Given the description of an element on the screen output the (x, y) to click on. 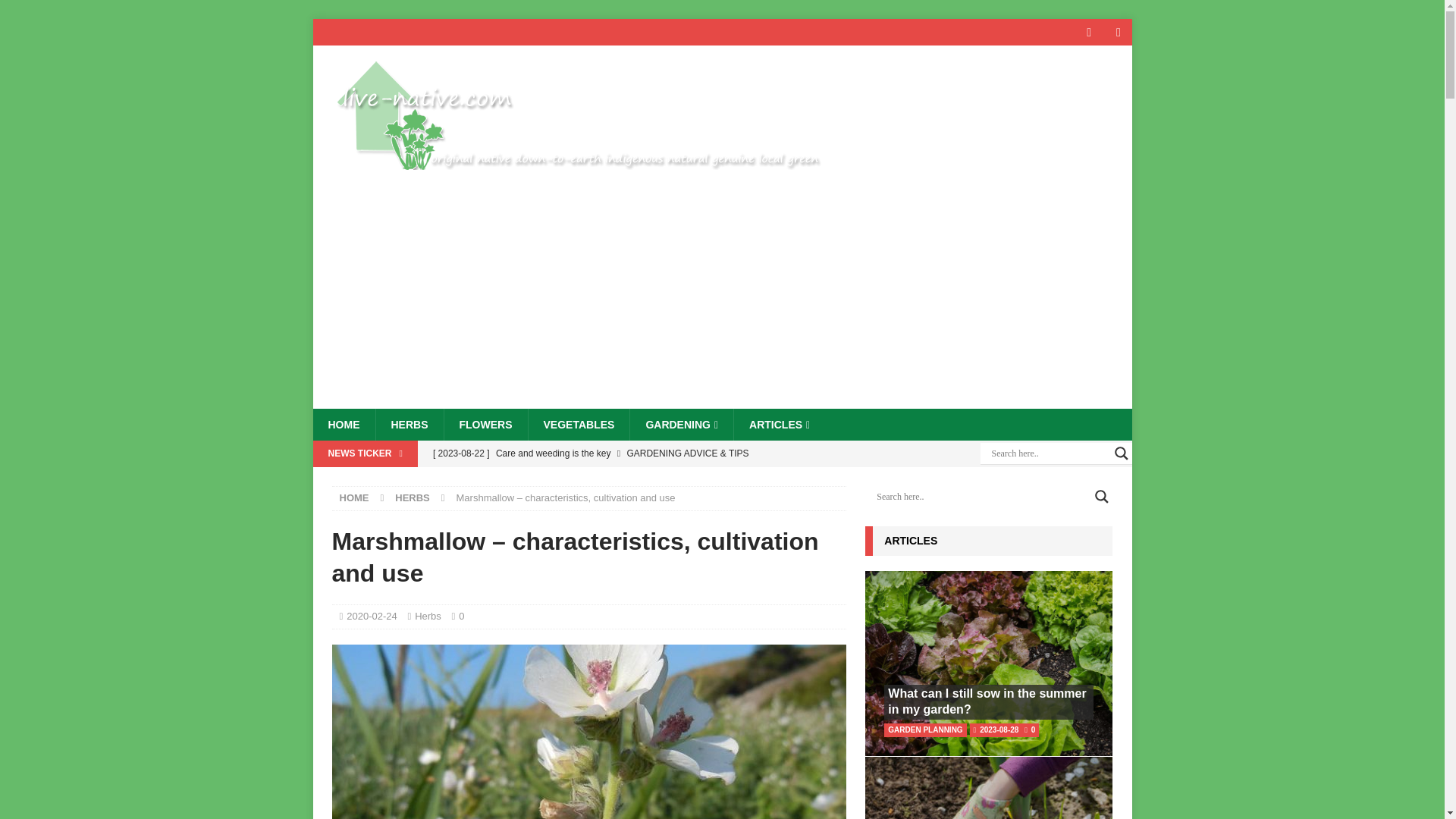
Care and weeding is the key (634, 453)
ARTICLES (779, 424)
VEGETABLES (578, 424)
2020-02-24 (371, 615)
Herbs (427, 615)
GARDENING (680, 424)
HOME (343, 424)
HERBS (411, 497)
Marshmallow (588, 731)
FLOWERS (485, 424)
HOME (354, 497)
HERBS (408, 424)
